Given the description of an element on the screen output the (x, y) to click on. 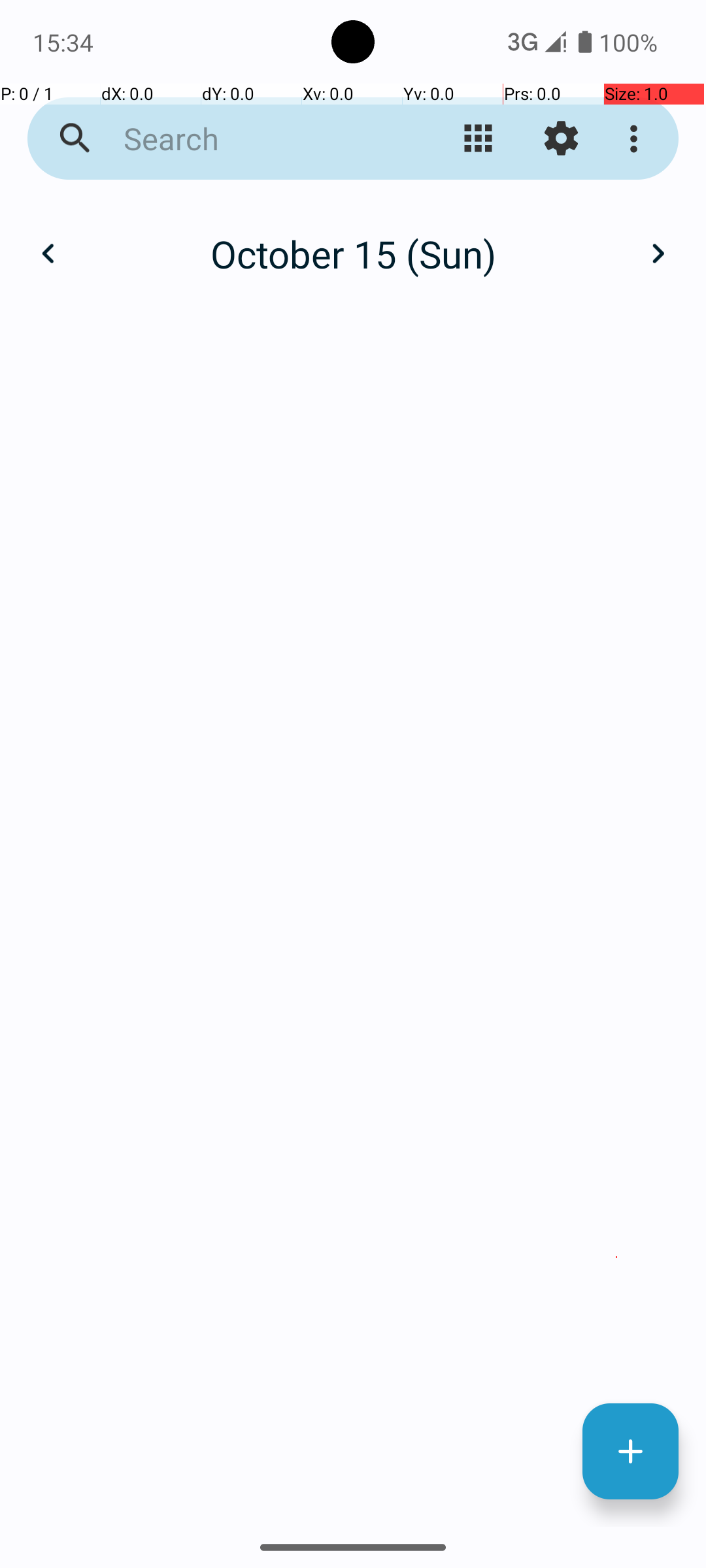
Change view Element type: android.widget.Button (477, 138)
New Event Element type: android.widget.ImageButton (630, 1451)
October 15 (Sun) Element type: android.widget.TextView (352, 253)
